Given the description of an element on the screen output the (x, y) to click on. 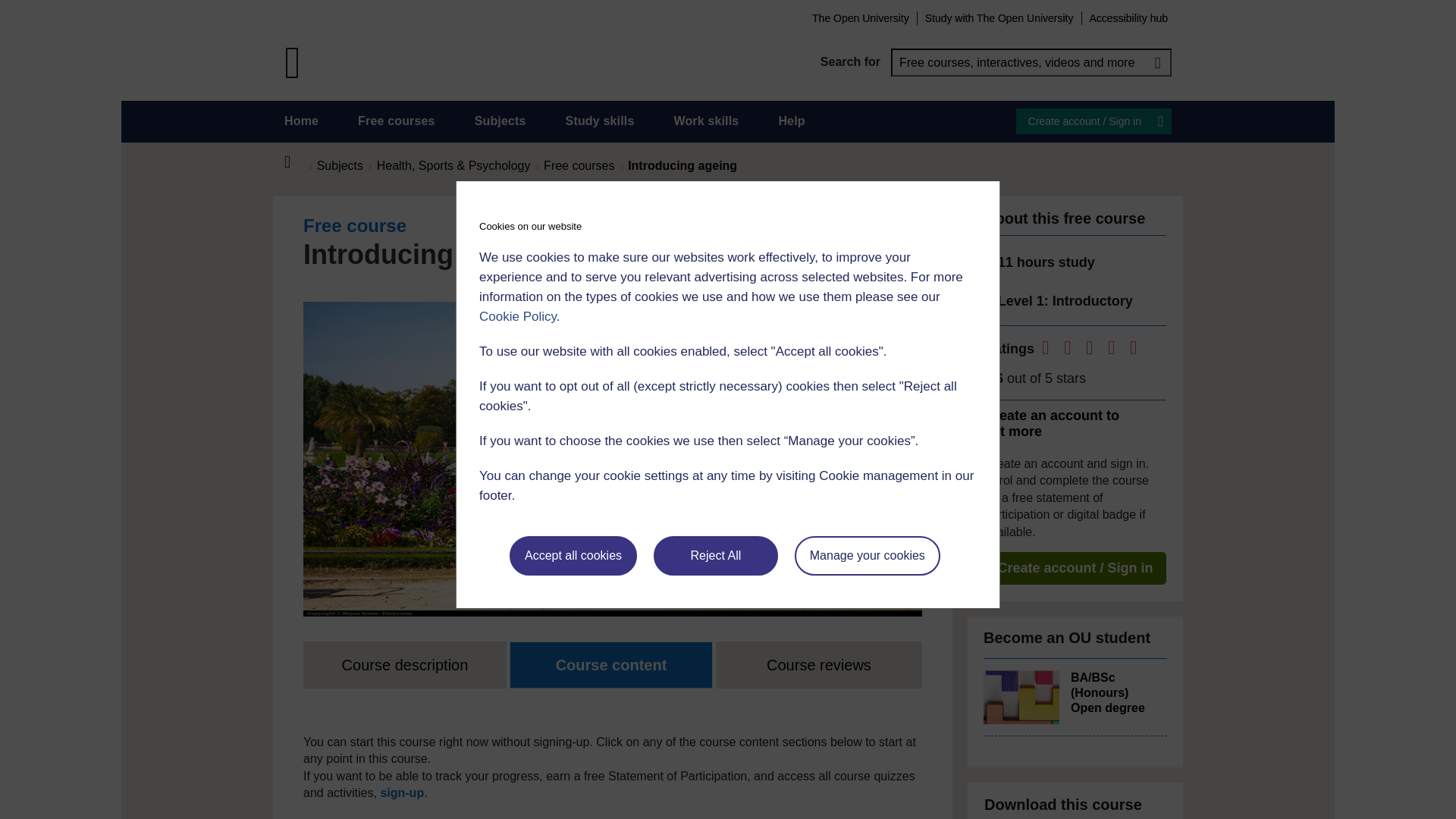
Course reviews (818, 664)
The Open University (860, 17)
Accept all cookies (573, 555)
Course content (611, 664)
Manage your cookies (867, 555)
Study with The Open University (999, 17)
Study skills (600, 120)
Accessibility hub (1129, 17)
Work skills (705, 120)
Help (791, 120)
Cookie Policy (517, 316)
Home (295, 162)
Subjects (499, 120)
Free courses (396, 120)
Course description (404, 664)
